Given the description of an element on the screen output the (x, y) to click on. 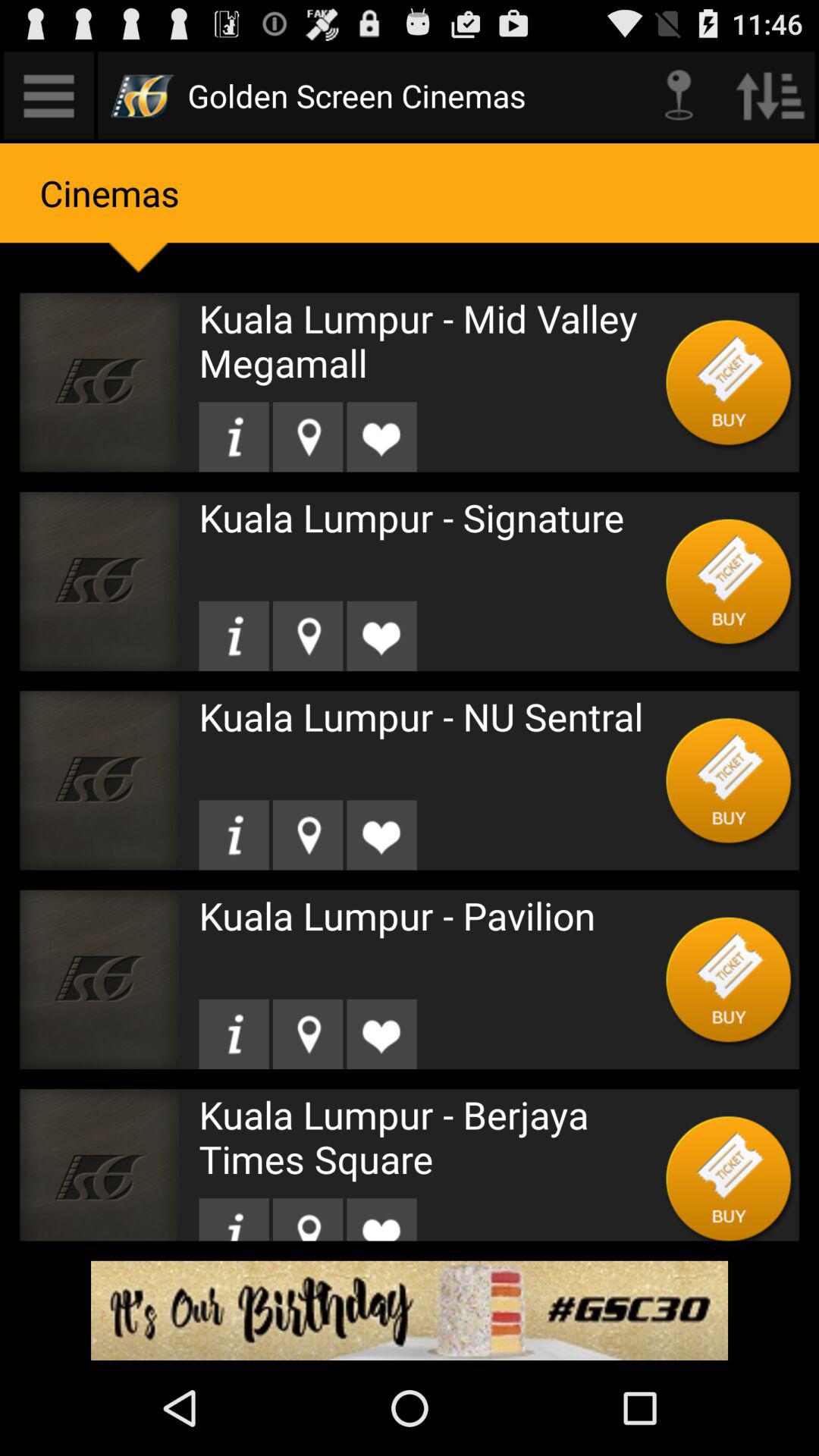
sort by (770, 95)
